Given the description of an element on the screen output the (x, y) to click on. 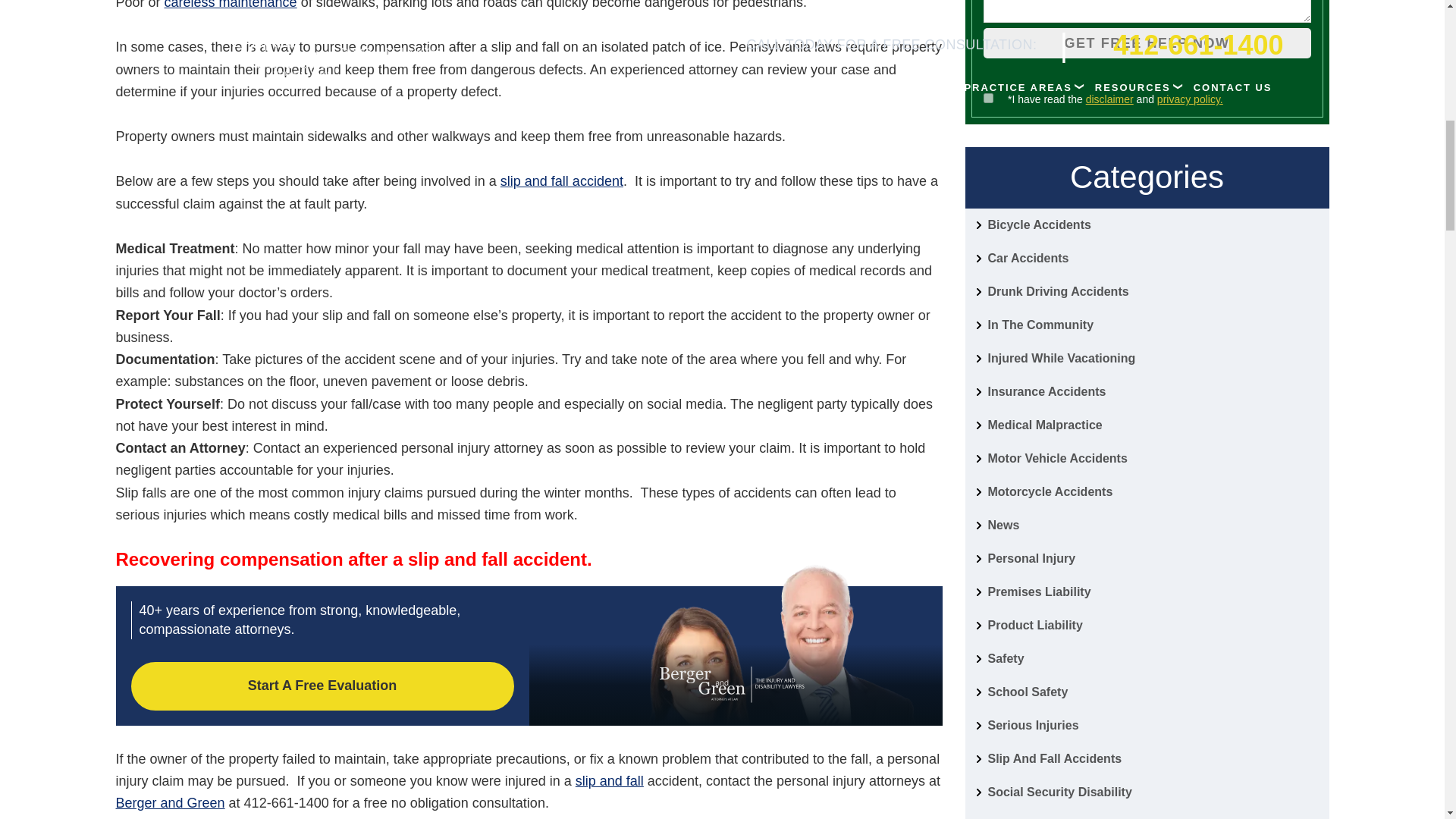
GET FREE HELP NOW (1146, 42)
1 (987, 98)
